Given the description of an element on the screen output the (x, y) to click on. 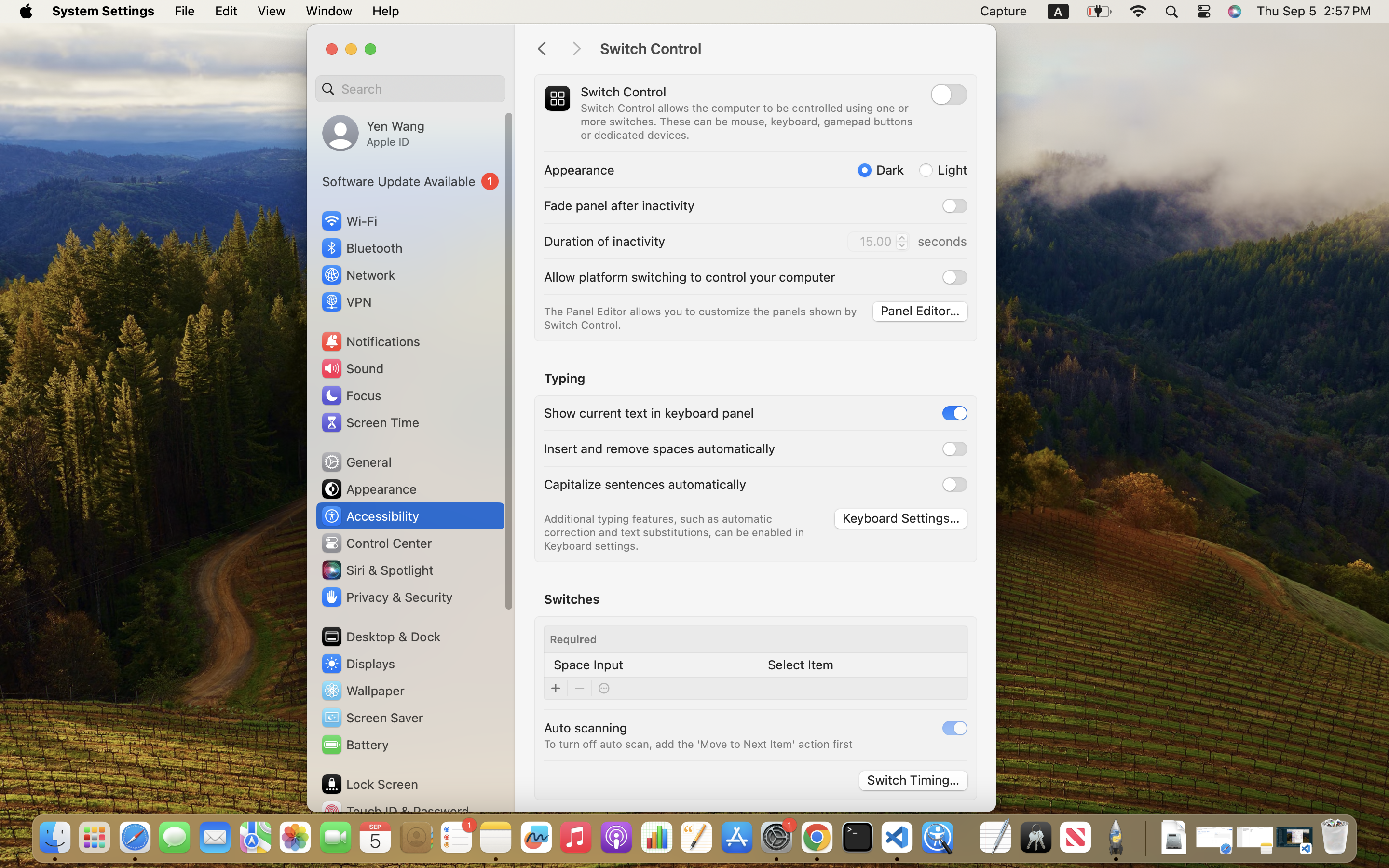
Network Element type: AXStaticText (357, 274)
Wallpaper Element type: AXStaticText (362, 690)
Show current text in keyboard panel Element type: AXStaticText (649, 412)
Wi‑Fi Element type: AXStaticText (348, 220)
